Given the description of an element on the screen output the (x, y) to click on. 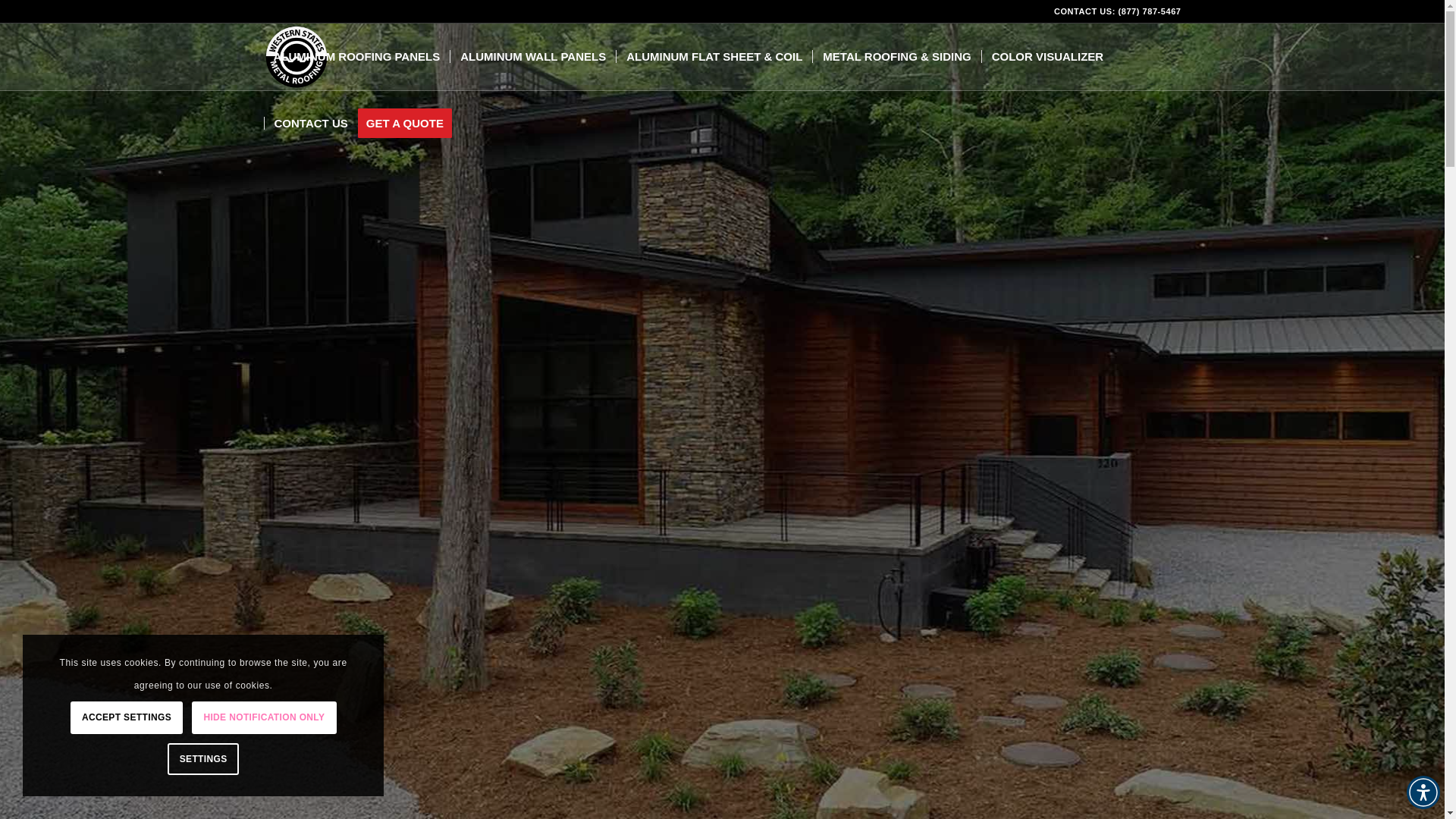
ALUMINUM ROOFING PANELS (356, 56)
GET A QUOTE (409, 123)
Accessibility Menu (1422, 792)
CONTACT US (310, 123)
ALUMINUM WALL PANELS (532, 56)
COLOR VISUALIZER (1047, 56)
